Given the description of an element on the screen output the (x, y) to click on. 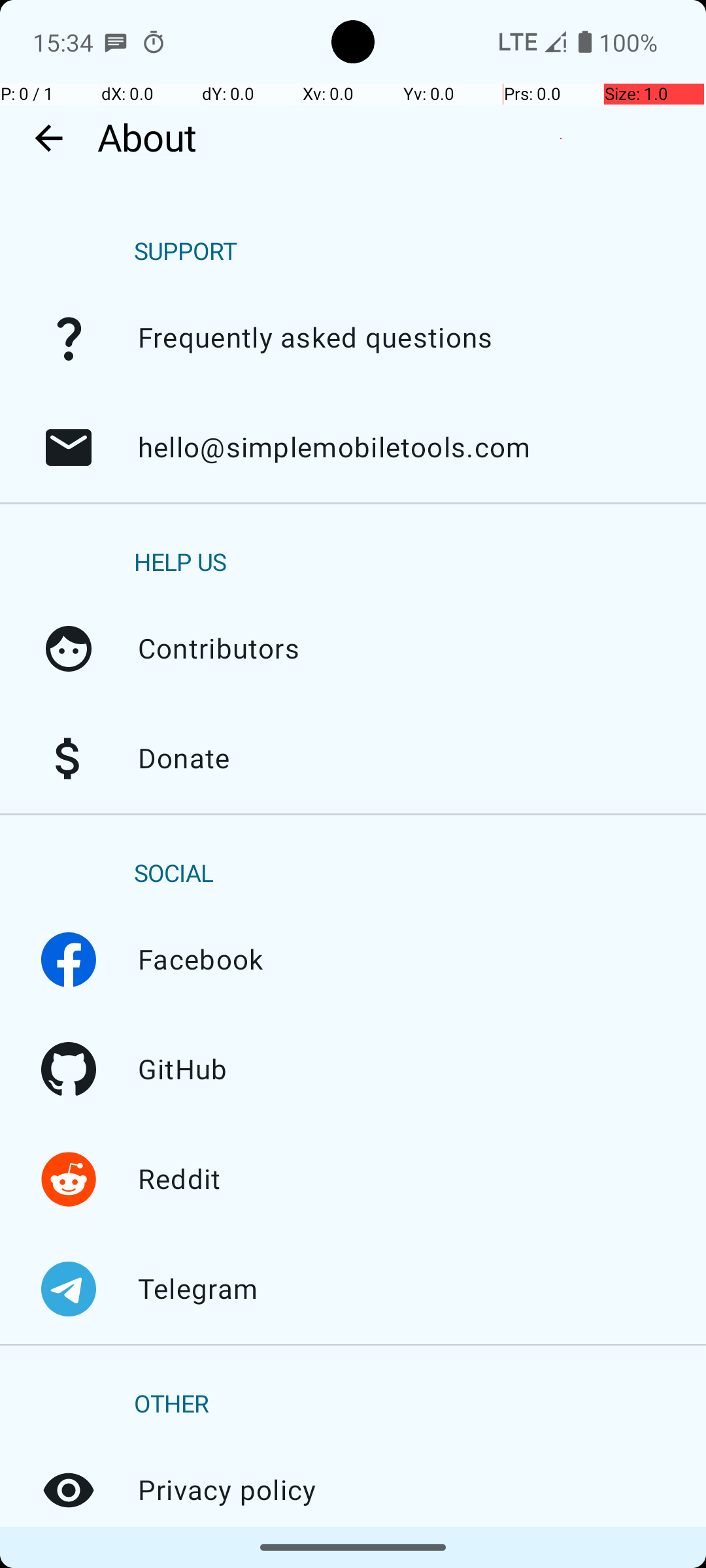
SUPPORT Element type: android.widget.TextView (185, 251)
HELP US Element type: android.widget.TextView (180, 562)
SOCIAL Element type: android.widget.TextView (173, 873)
Frequently asked questions Element type: android.view.View (68, 337)
hello@simplemobiletools.com Element type: android.view.View (68, 447)
GitHub Element type: android.view.View (68, 1069)
Telegram Element type: android.view.View (68, 1288)
